Given the description of an element on the screen output the (x, y) to click on. 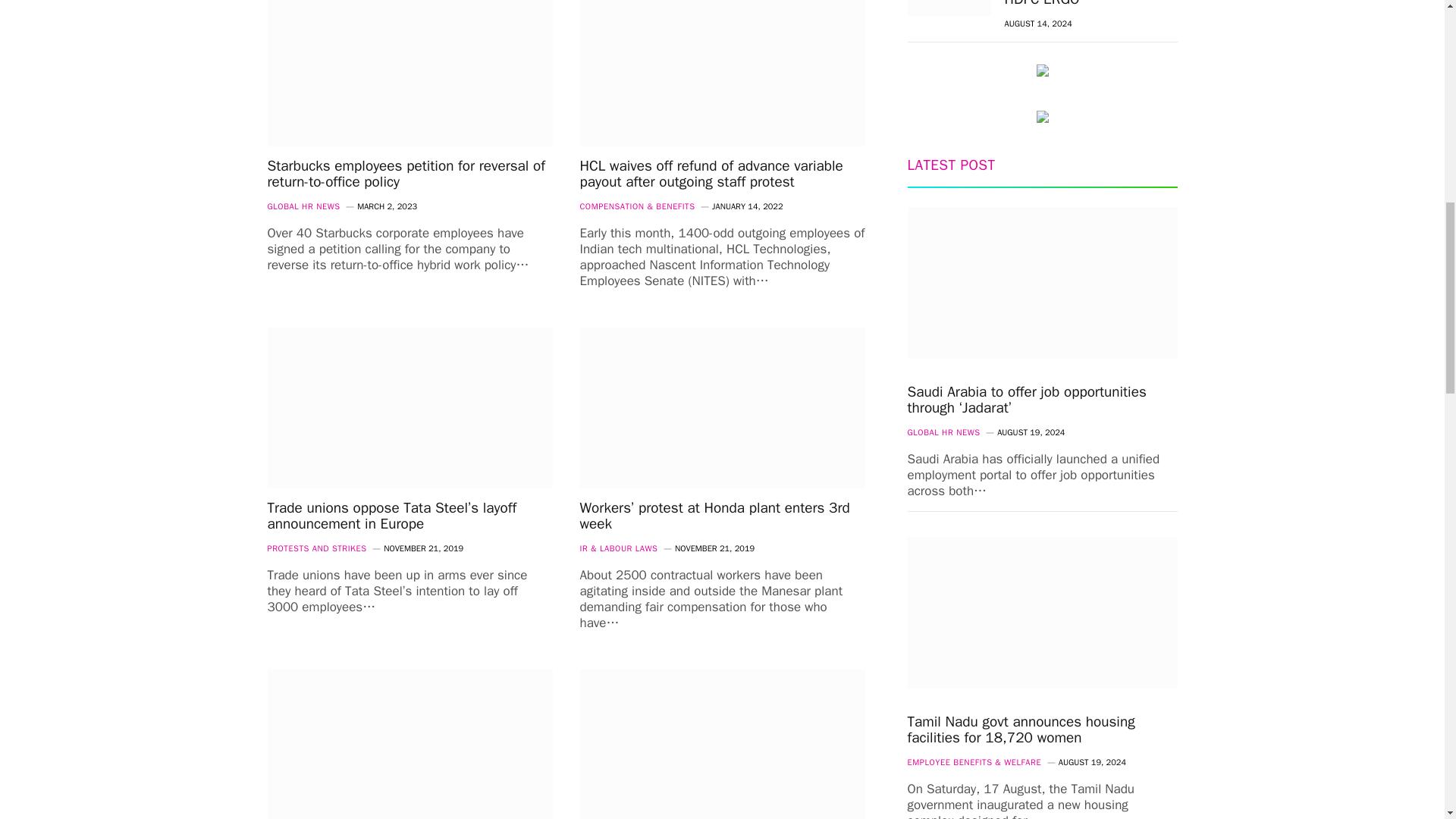
FB staff opposes intolerance of diverse views (721, 744)
